Given the description of an element on the screen output the (x, y) to click on. 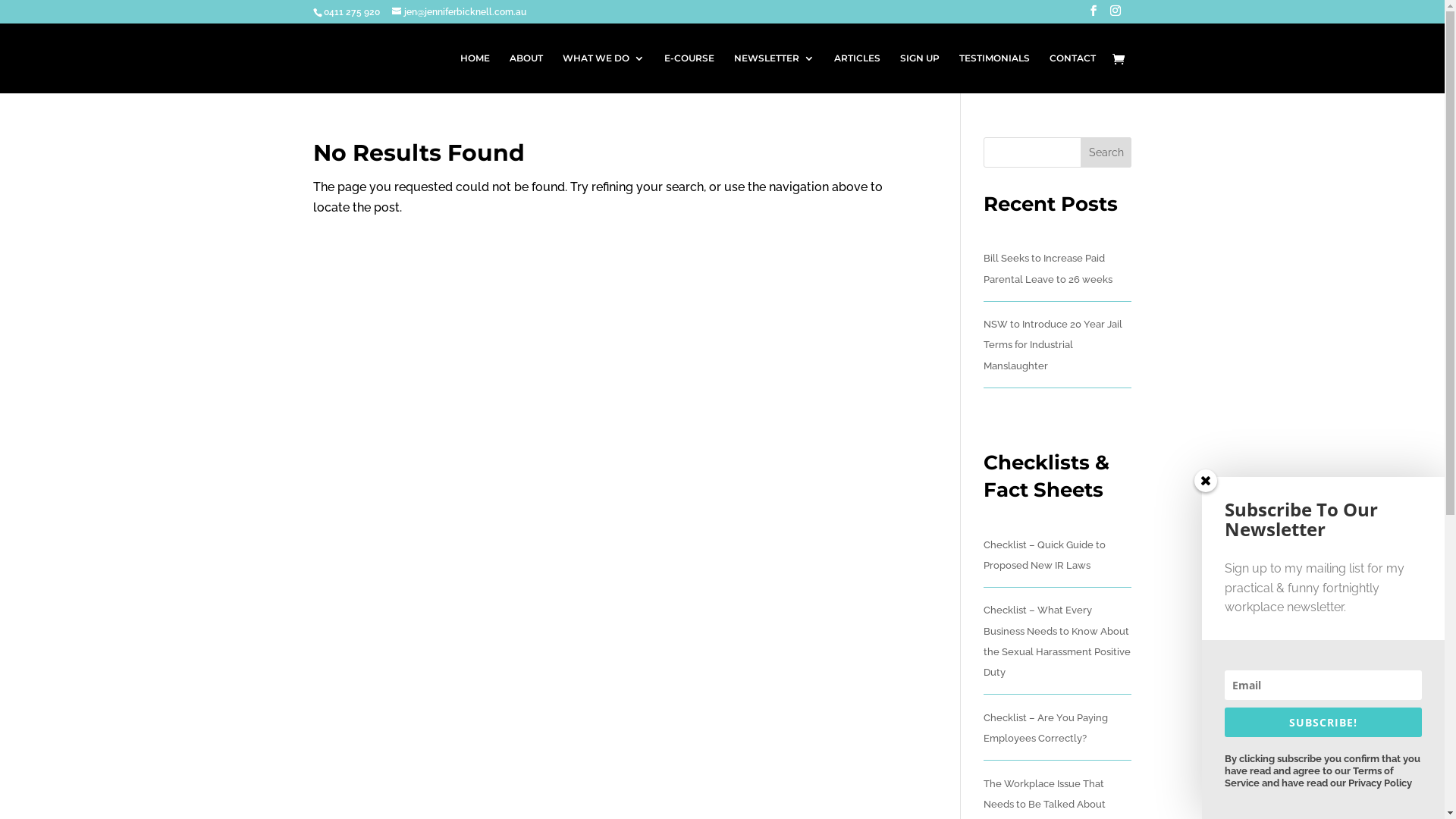
HOME Element type: text (474, 73)
WHAT WE DO Element type: text (603, 73)
NEWSLETTER Element type: text (774, 73)
ARTICLES Element type: text (857, 73)
Search Element type: text (1106, 152)
ABOUT Element type: text (525, 73)
TESTIMONIALS Element type: text (993, 73)
E-COURSE Element type: text (689, 73)
The Workplace Issue That Needs to Be Talked About Element type: text (1044, 793)
CONTACT Element type: text (1072, 73)
SIGN UP Element type: text (918, 73)
SUBSCRIBE! Element type: text (1322, 722)
jen@jenniferbicknell.com.au Element type: text (458, 11)
Bill Seeks to Increase Paid Parental Leave to 26 weeks Element type: text (1047, 268)
